Given the description of an element on the screen output the (x, y) to click on. 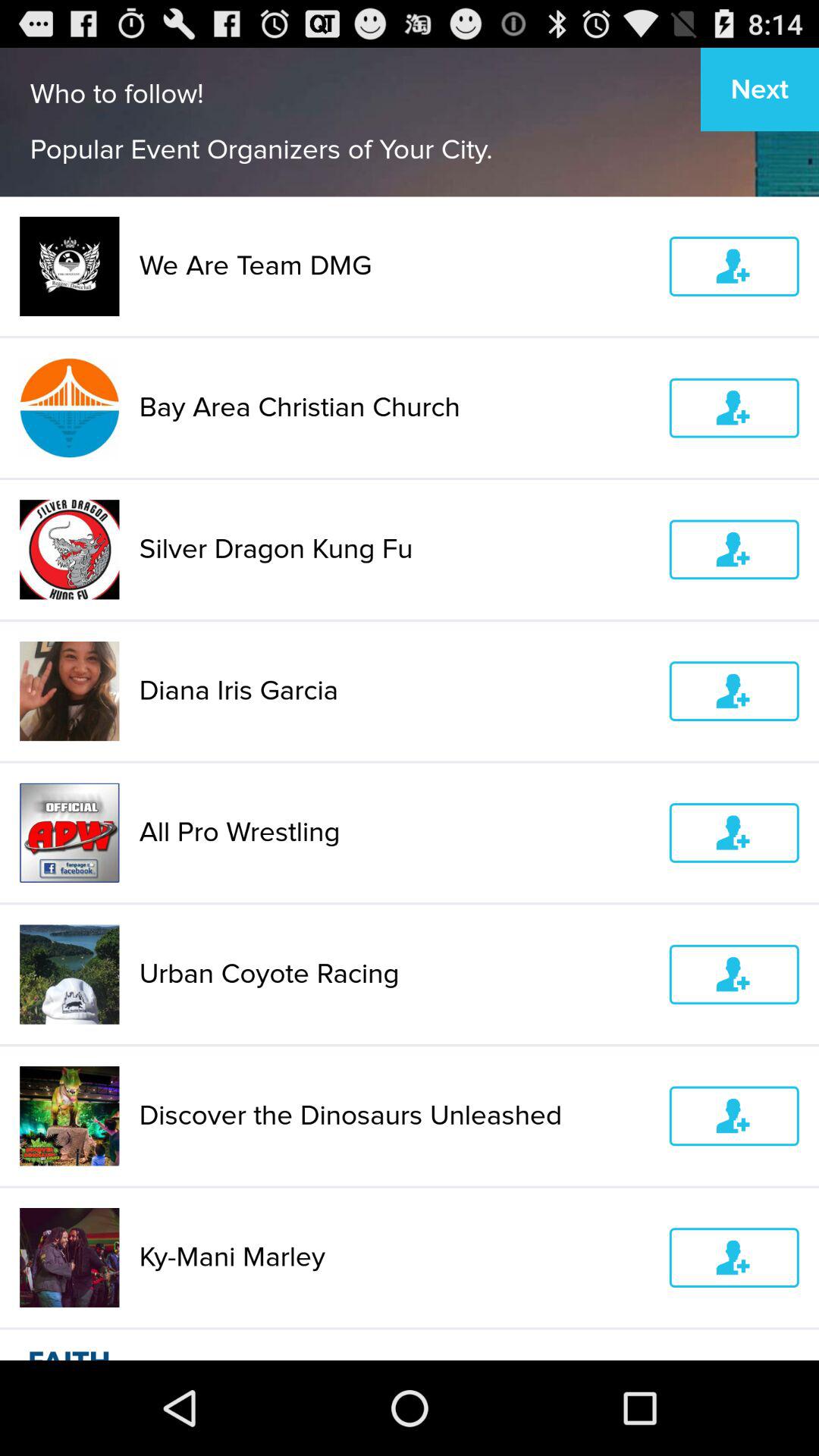
launch the icon above ky-mani marley (394, 1115)
